Given the description of an element on the screen output the (x, y) to click on. 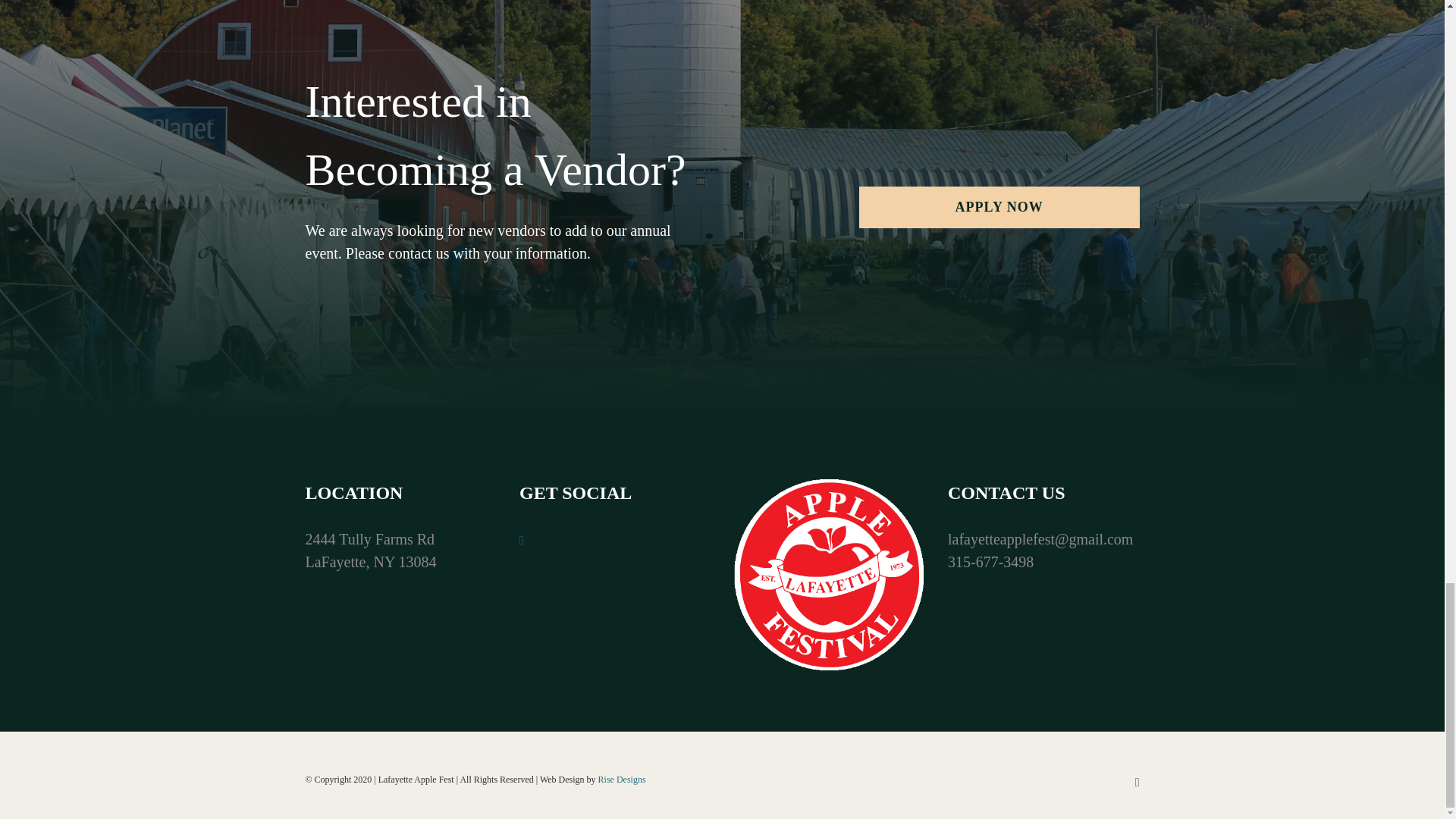
APPLY NOW (999, 207)
Rise Designs (622, 778)
Facebook (1137, 782)
